Given the description of an element on the screen output the (x, y) to click on. 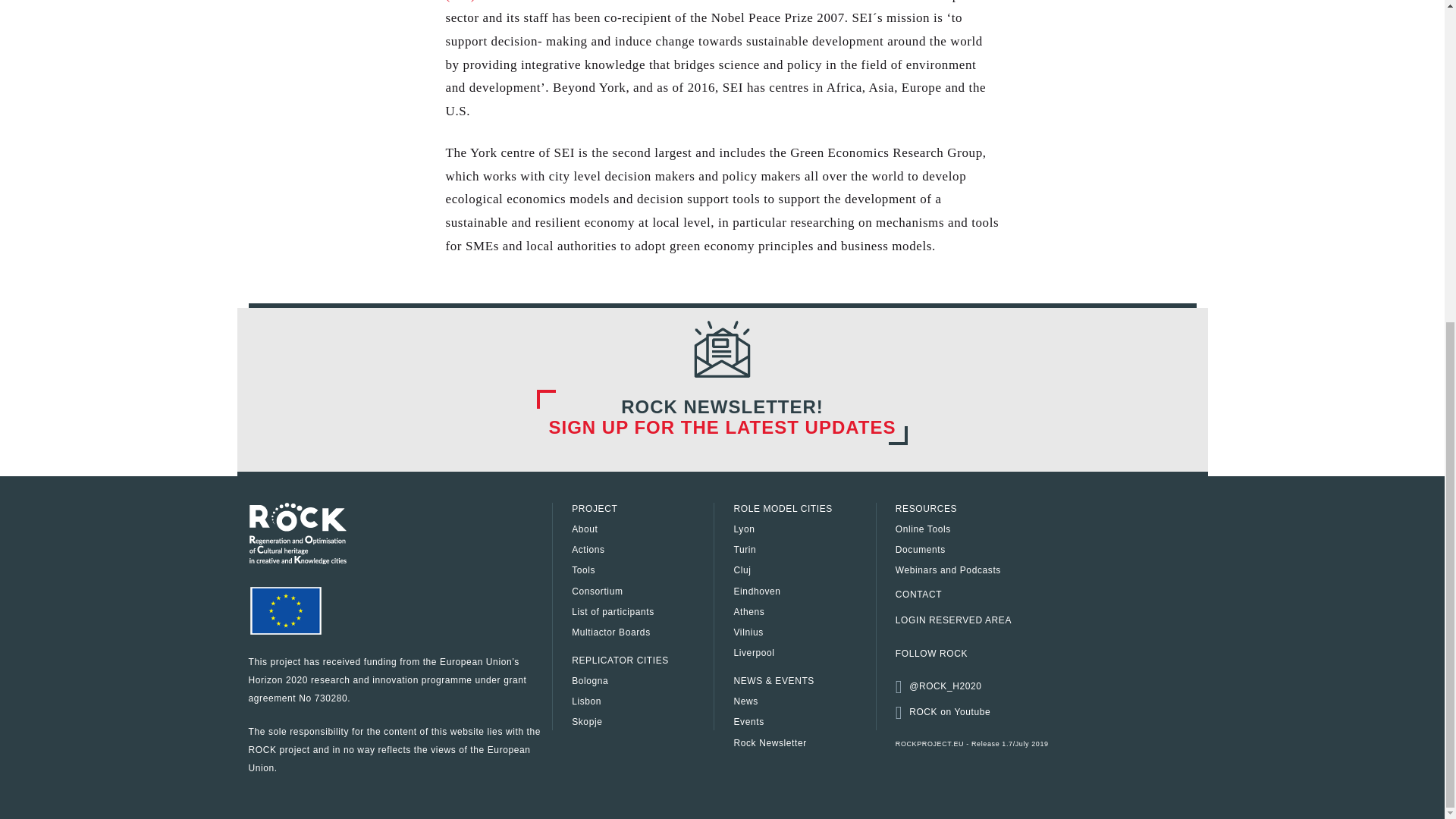
Actions (641, 549)
About (641, 529)
List of participants (641, 612)
Consortium (641, 591)
SIGN UP FOR THE LATEST UPDATES (721, 426)
PROJECT (641, 508)
Multiactor Boards (641, 632)
Tools (641, 570)
